Given the description of an element on the screen output the (x, y) to click on. 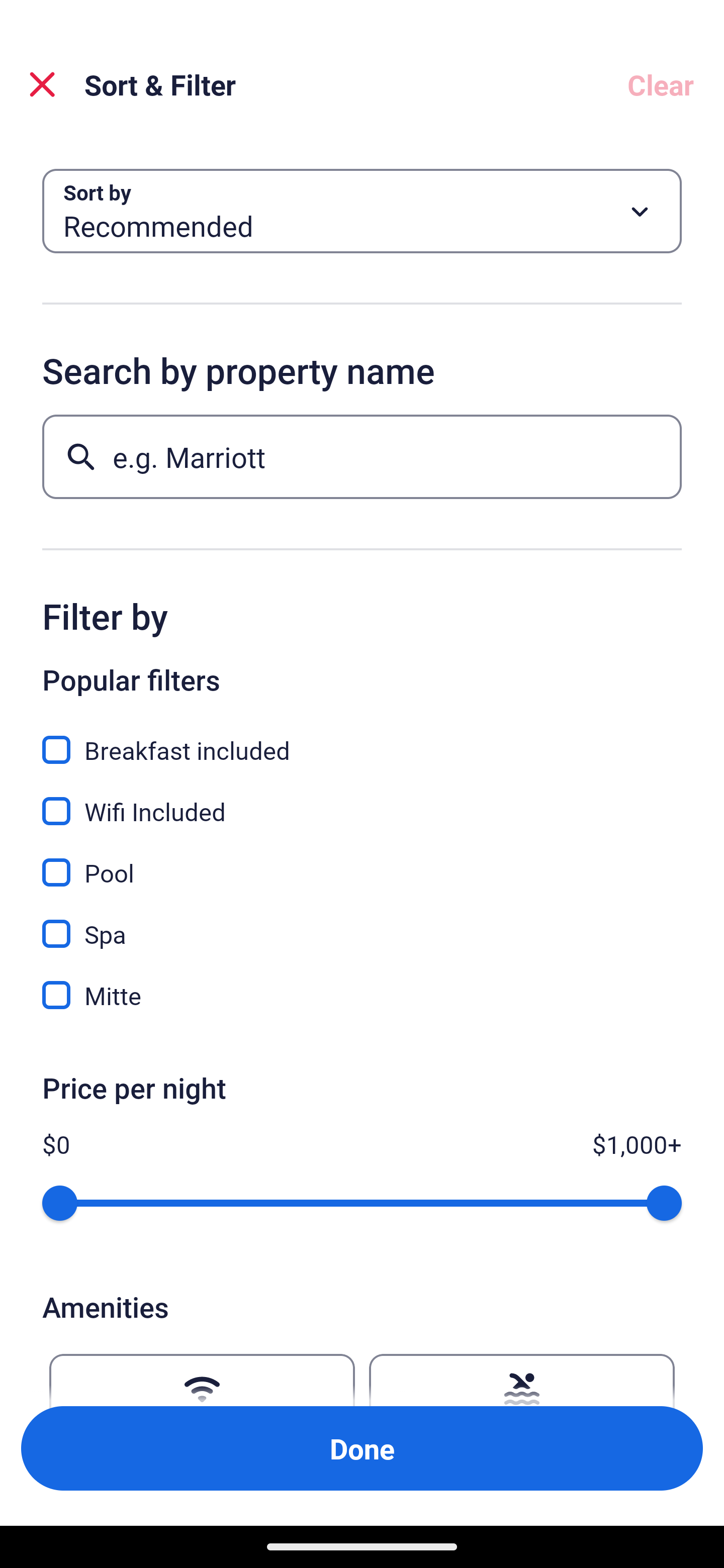
Close Sort and Filter (42, 84)
Clear (660, 84)
Sort by Button Recommended (361, 211)
e.g. Marriott Button (361, 455)
Breakfast included, Breakfast included (361, 738)
Wifi Included, Wifi Included (361, 800)
Pool, Pool (361, 861)
Spa, Spa (361, 922)
Mitte, Mitte (361, 995)
Apply and close Sort and Filter Done (361, 1448)
